Given the description of an element on the screen output the (x, y) to click on. 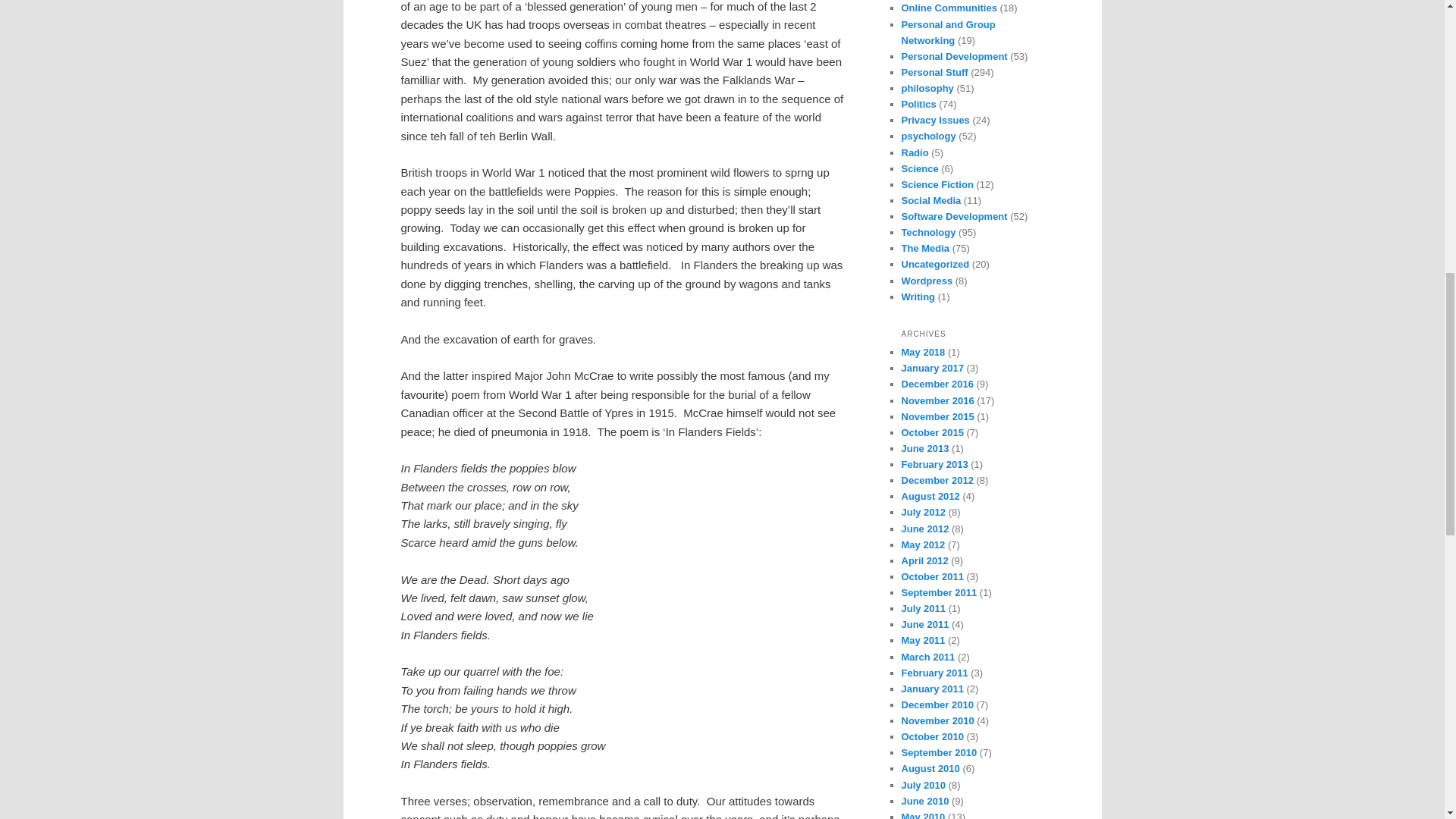
Online Communities (948, 7)
Personal Stuff (934, 71)
Personal and Group Networking (947, 31)
Personal Development (954, 56)
philosophy (927, 88)
